Given the description of an element on the screen output the (x, y) to click on. 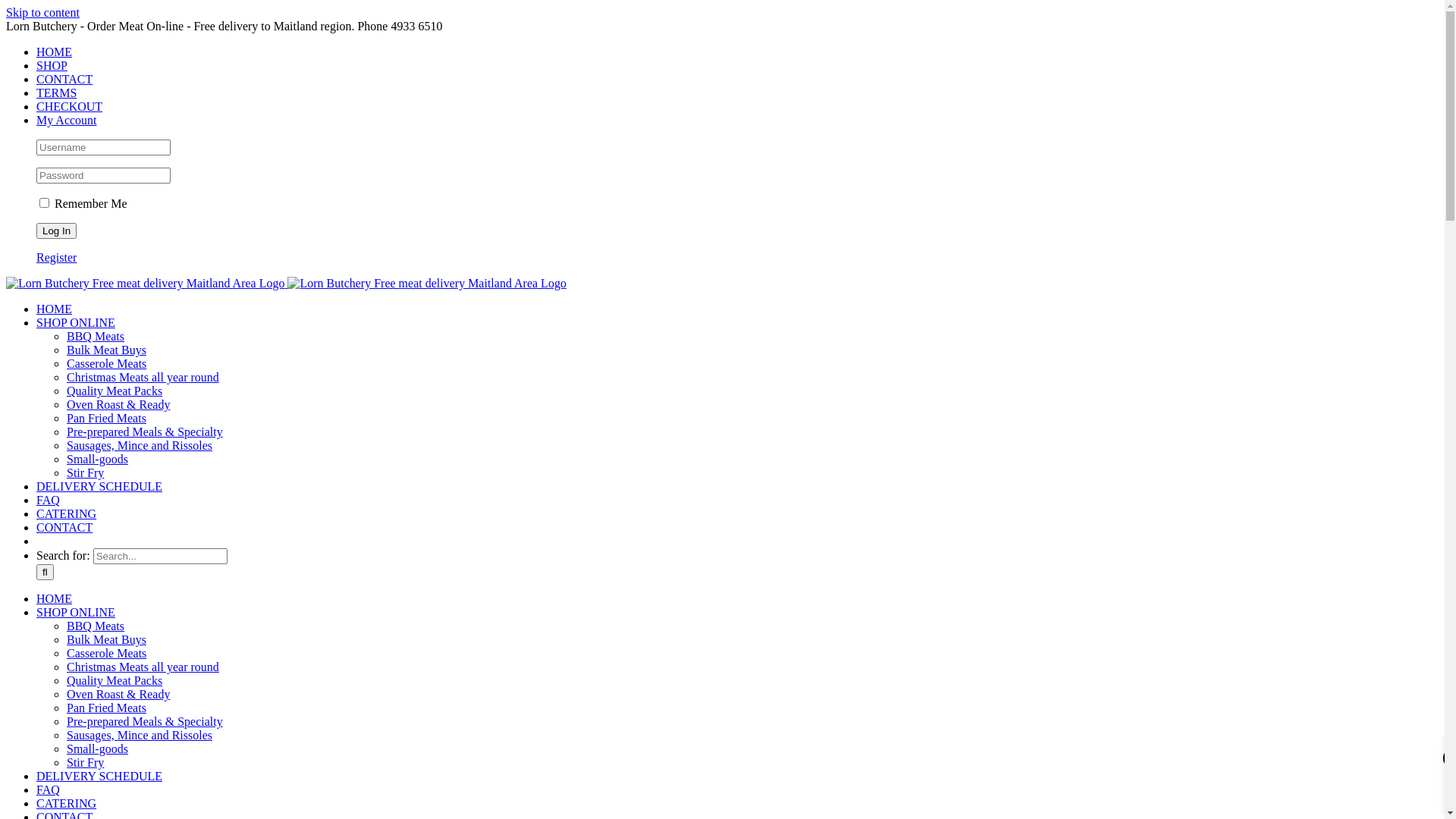
Christmas Meats all year round Element type: text (142, 666)
Pan Fried Meats Element type: text (106, 707)
DELIVERY SCHEDULE Element type: text (99, 486)
CONTACT Element type: text (64, 78)
Small-goods Element type: text (97, 458)
Casserole Meats Element type: text (106, 363)
SHOP ONLINE Element type: text (75, 611)
FAQ Element type: text (47, 789)
Pre-prepared Meals & Specialty Element type: text (144, 431)
Sausages, Mince and Rissoles Element type: text (139, 734)
Pan Fried Meats Element type: text (106, 417)
Christmas Meats all year round Element type: text (142, 376)
Pre-prepared Meals & Specialty Element type: text (144, 721)
CONTACT Element type: text (64, 526)
TERMS Element type: text (56, 92)
HOME Element type: text (54, 308)
CATERING Element type: text (66, 513)
SHOP ONLINE Element type: text (75, 322)
BBQ Meats Element type: text (95, 335)
CHECKOUT Element type: text (69, 106)
SHOP Element type: text (51, 65)
Sausages, Mince and Rissoles Element type: text (139, 445)
Log In Element type: text (56, 230)
Register Element type: text (56, 257)
BBQ Meats Element type: text (95, 625)
Quality Meat Packs Element type: text (114, 680)
CATERING Element type: text (66, 803)
Quality Meat Packs Element type: text (114, 390)
FAQ Element type: text (47, 499)
DELIVERY SCHEDULE Element type: text (99, 775)
Bulk Meat Buys Element type: text (106, 349)
Skip to content Element type: text (42, 12)
Oven Roast & Ready Element type: text (117, 404)
Small-goods Element type: text (97, 748)
Casserole Meats Element type: text (106, 652)
Stir Fry Element type: text (84, 762)
My Account Element type: text (66, 119)
HOME Element type: text (54, 51)
Bulk Meat Buys Element type: text (106, 639)
Oven Roast & Ready Element type: text (117, 693)
Stir Fry Element type: text (84, 472)
HOME Element type: text (54, 598)
